Given the description of an element on the screen output the (x, y) to click on. 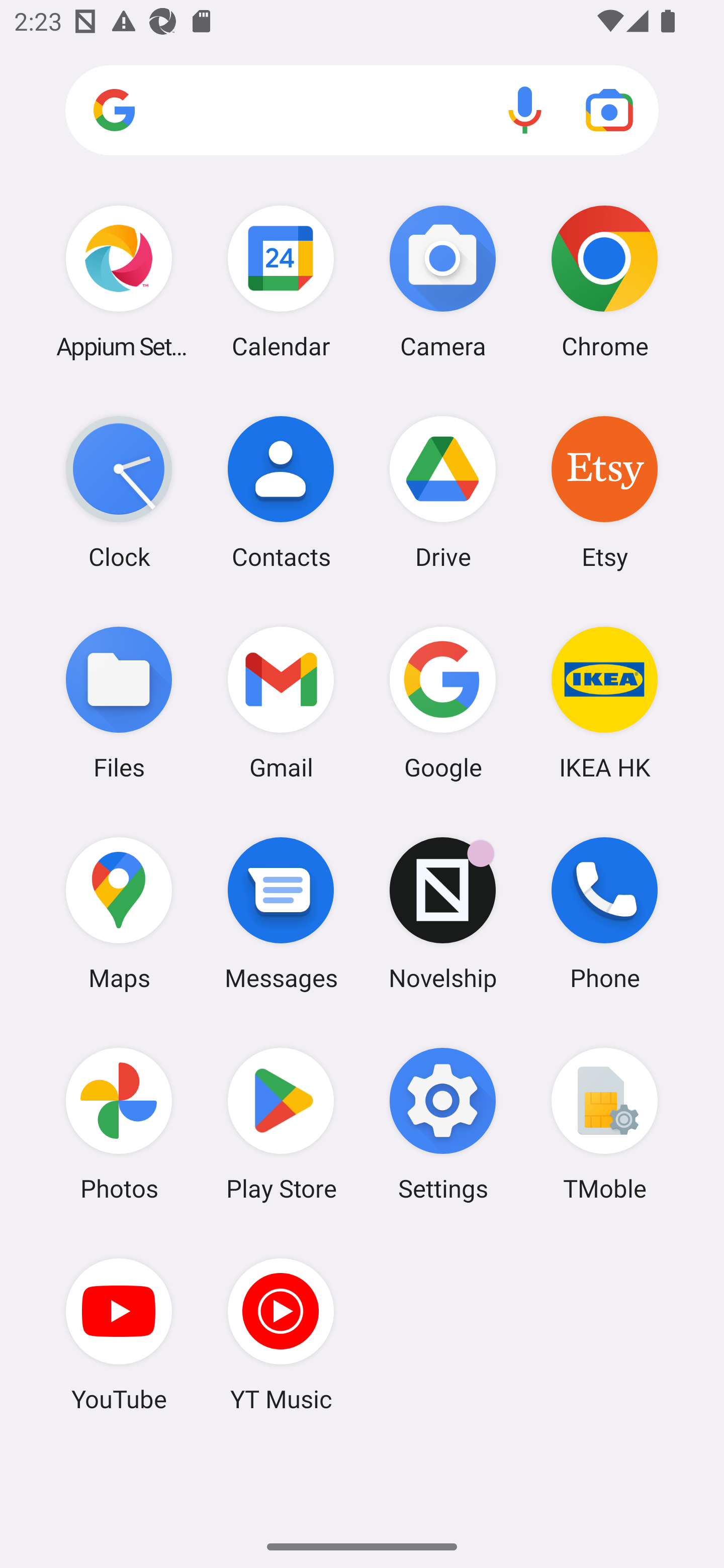
Search apps, web and more (361, 110)
Voice search (524, 109)
Google Lens (608, 109)
Appium Settings (118, 281)
Calendar (280, 281)
Camera (443, 281)
Chrome (604, 281)
Clock (118, 492)
Contacts (280, 492)
Drive (443, 492)
Etsy (604, 492)
Files (118, 702)
Gmail (280, 702)
Google (443, 702)
IKEA HK (604, 702)
Maps (118, 913)
Messages (280, 913)
Novelship Novelship has 1 notification (443, 913)
Phone (604, 913)
Photos (118, 1124)
Play Store (280, 1124)
Settings (443, 1124)
TMoble (604, 1124)
YouTube (118, 1334)
YT Music (280, 1334)
